Given the description of an element on the screen output the (x, y) to click on. 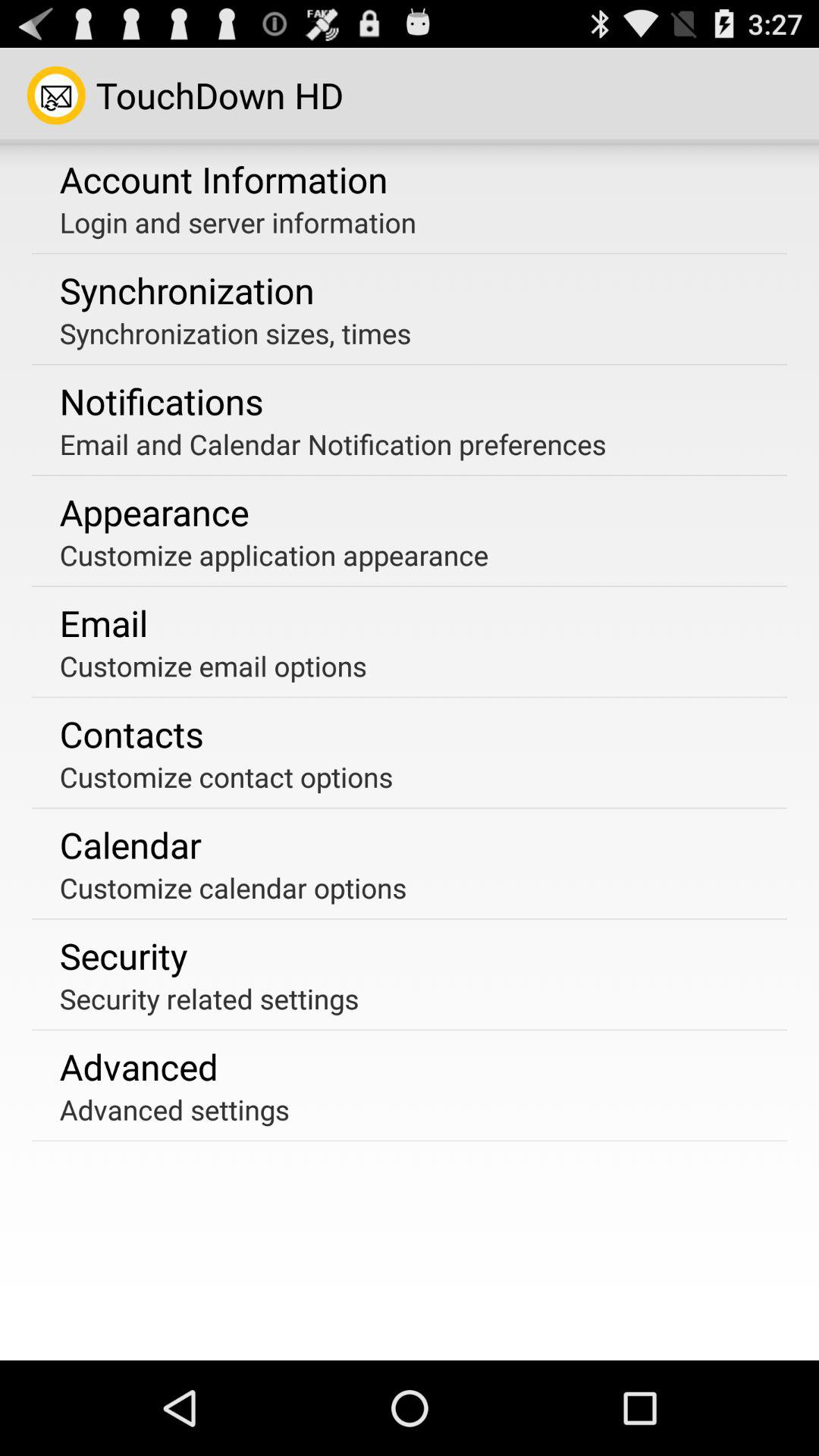
jump to the security related settings app (208, 998)
